Given the description of an element on the screen output the (x, y) to click on. 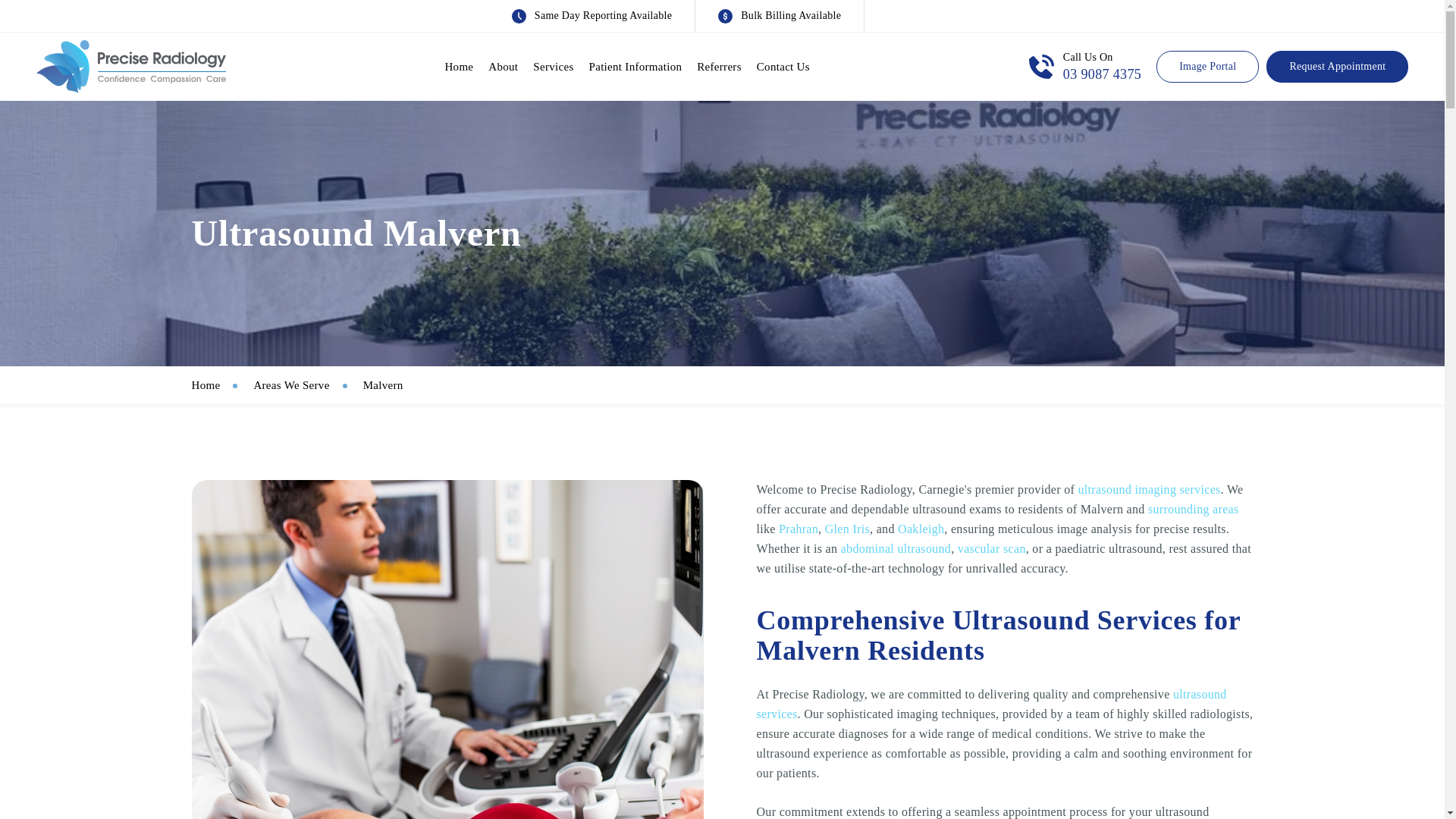
Areas We Serve (306, 384)
03 9087 4375 (1101, 73)
Prahran (798, 528)
Home (220, 384)
Image Portal (1207, 66)
phone-call (1041, 66)
Request Appointment (1336, 66)
vascular scan (992, 548)
abdominal ultrasound (896, 548)
surrounding areas (1193, 508)
